Given the description of an element on the screen output the (x, y) to click on. 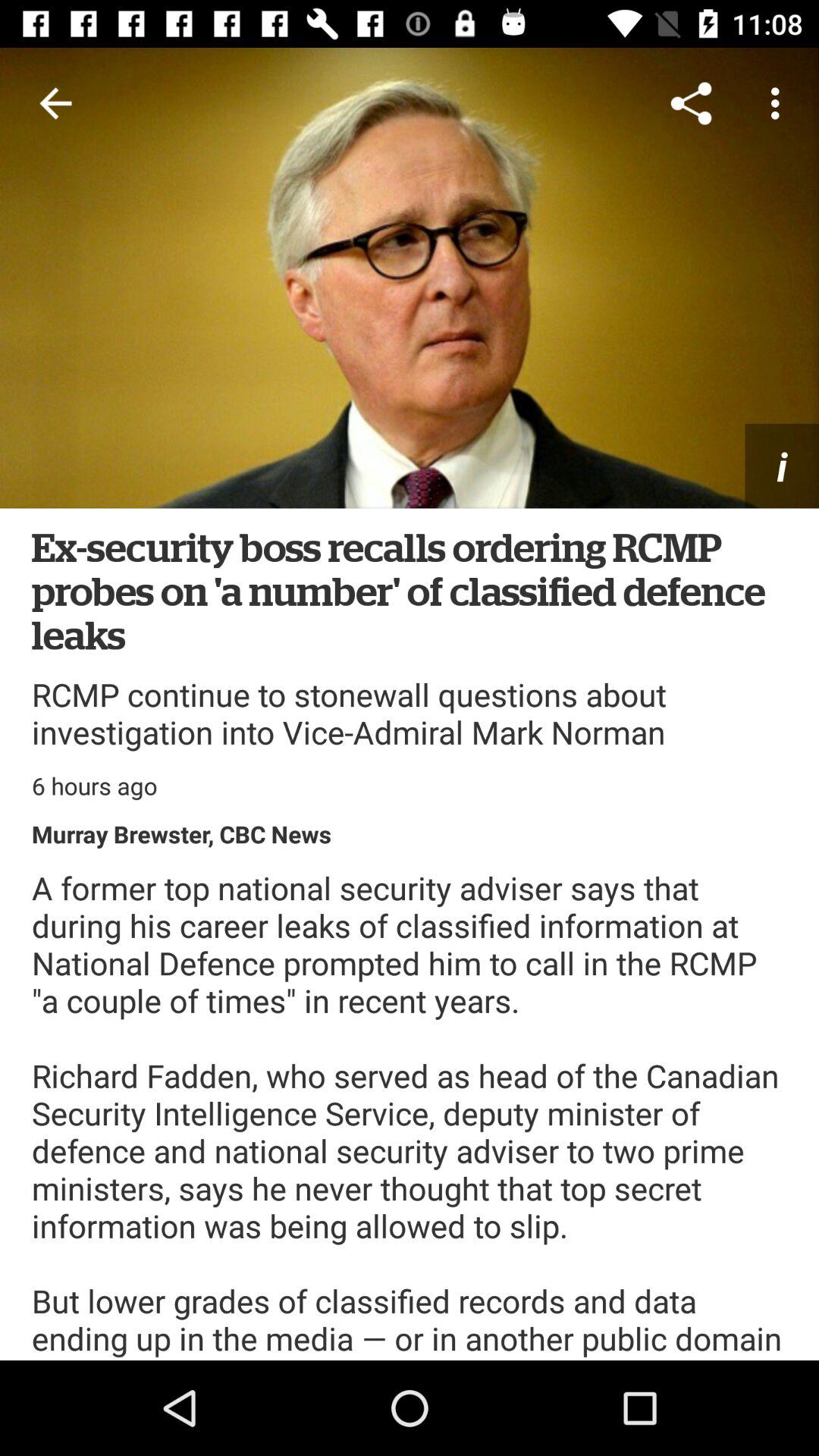
open the a former top (409, 1113)
